Given the description of an element on the screen output the (x, y) to click on. 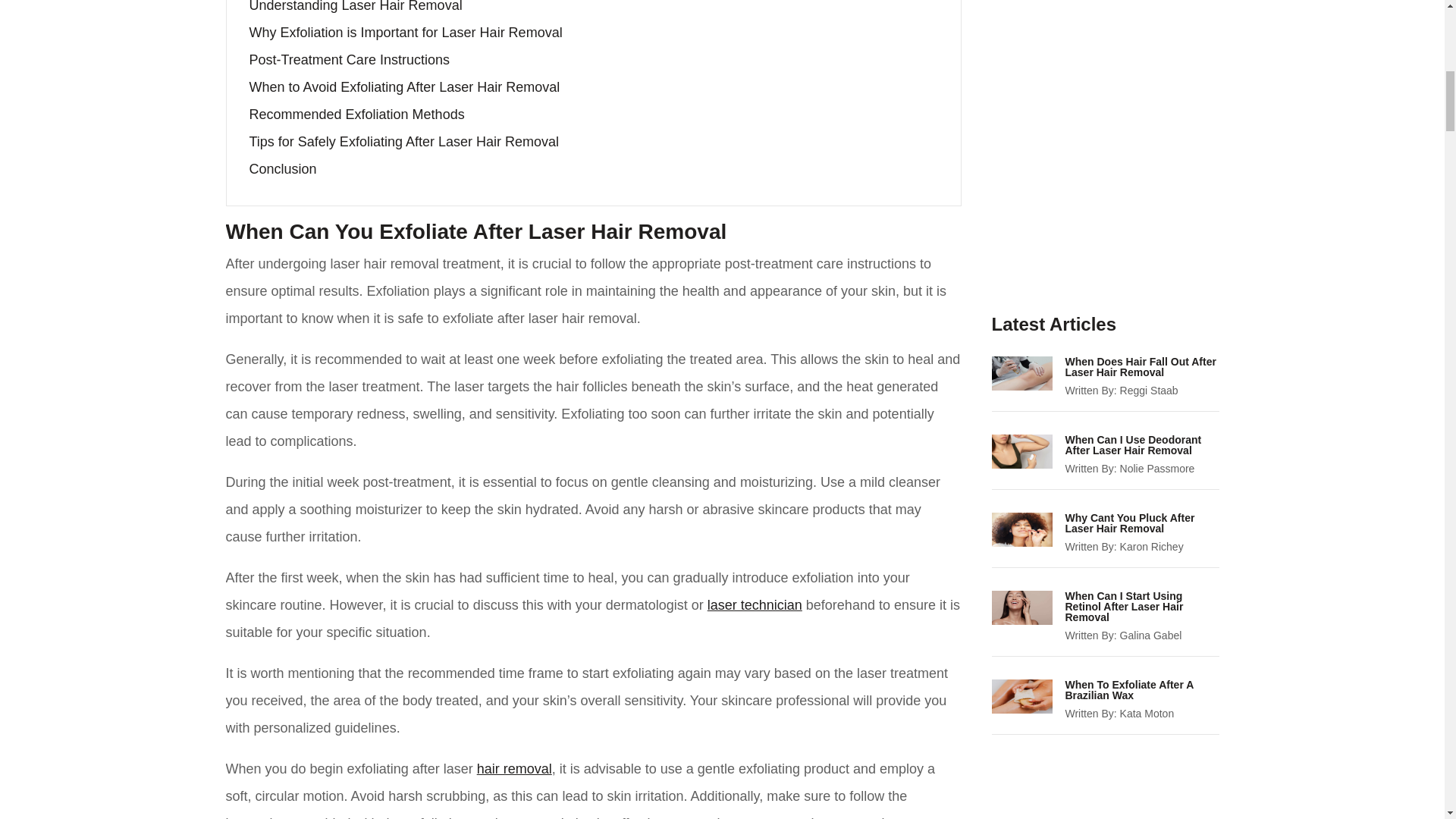
hair removal (514, 768)
laser technician (754, 604)
